Given the description of an element on the screen output the (x, y) to click on. 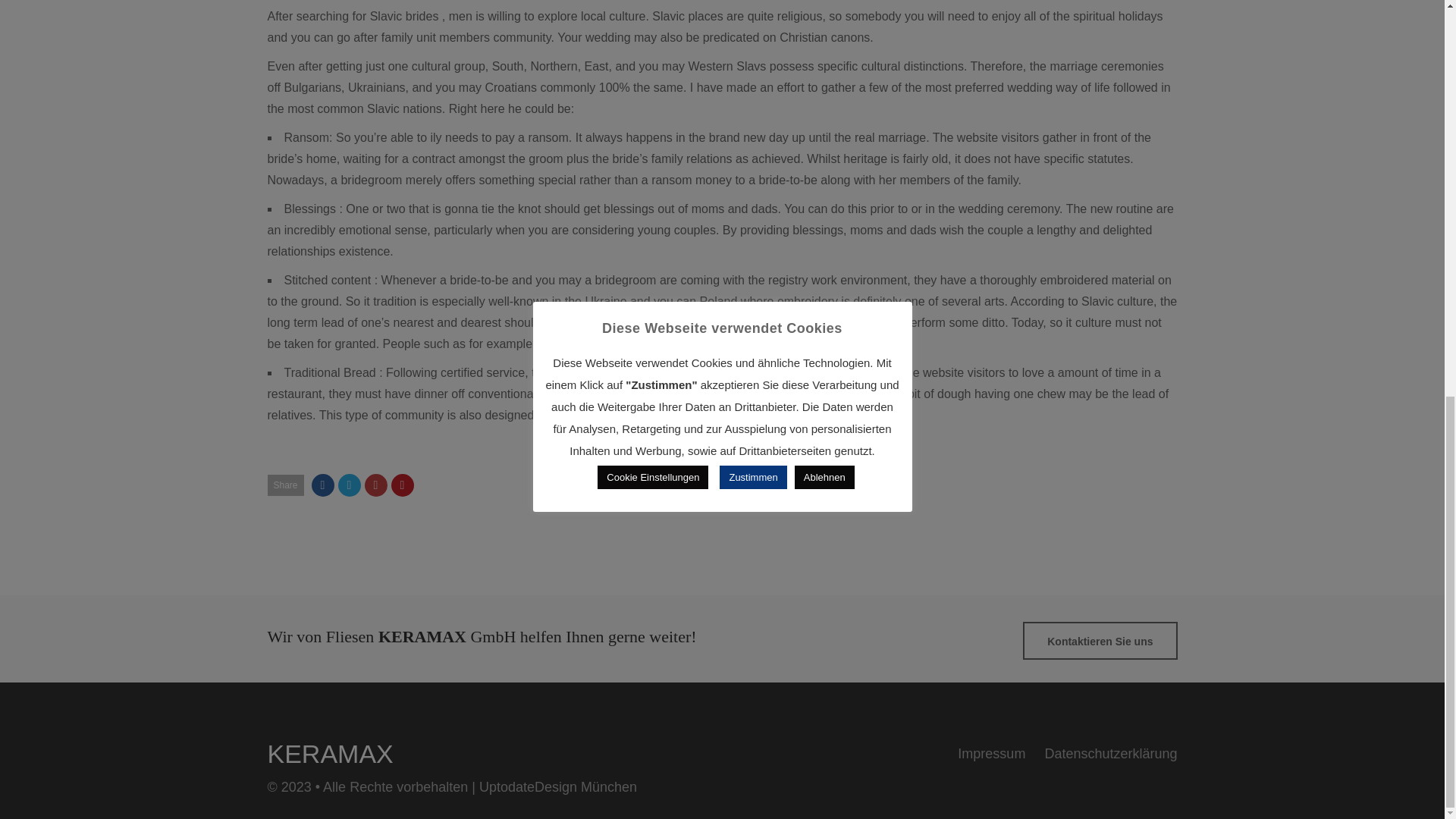
KERAMAX (329, 753)
Impressum (991, 753)
Kontaktieren Sie uns (1099, 640)
Share (284, 485)
